Given the description of an element on the screen output the (x, y) to click on. 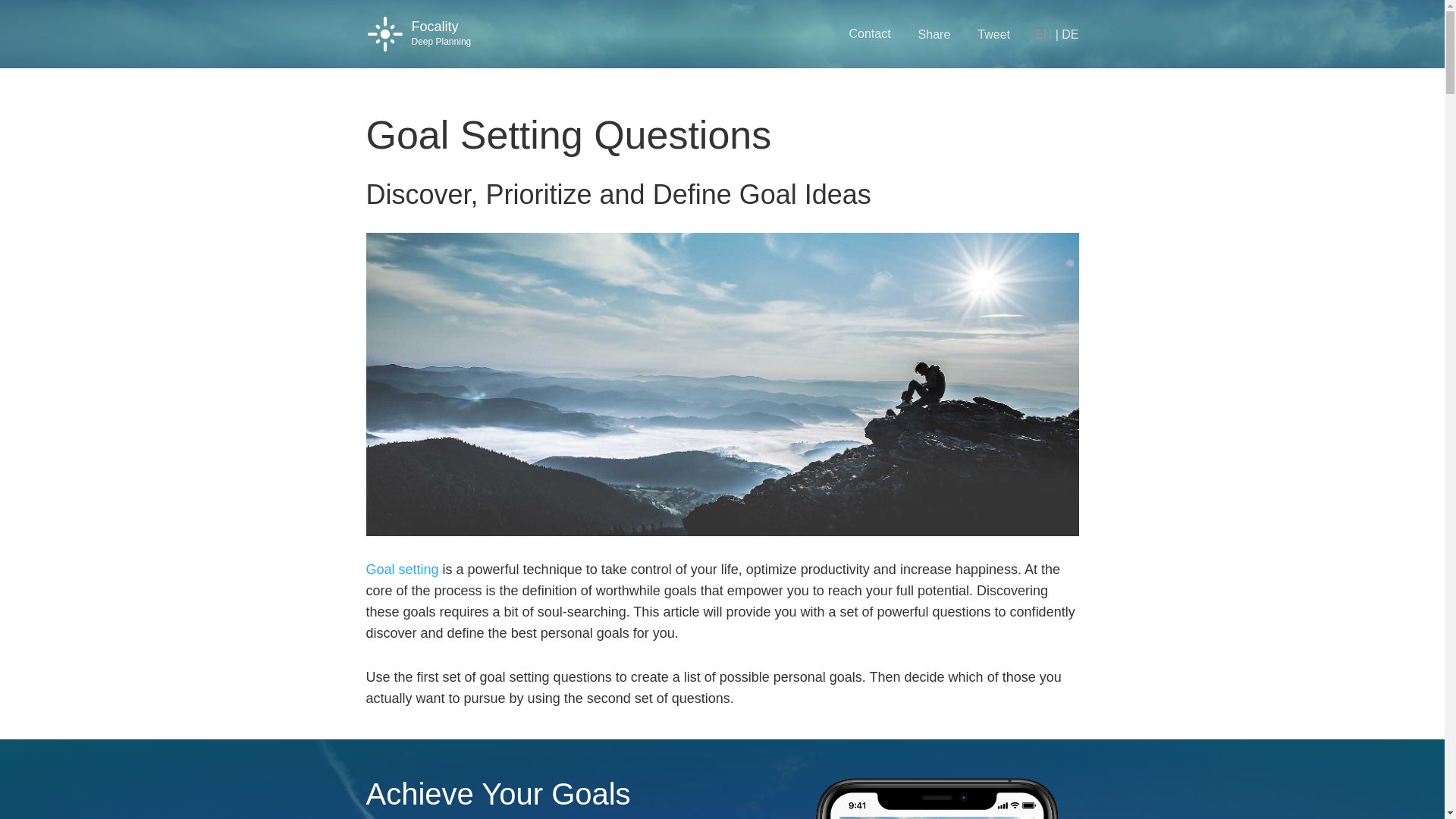
Share (934, 33)
Tweet (994, 33)
Contact (869, 33)
Goal setting (401, 569)
